Given the description of an element on the screen output the (x, y) to click on. 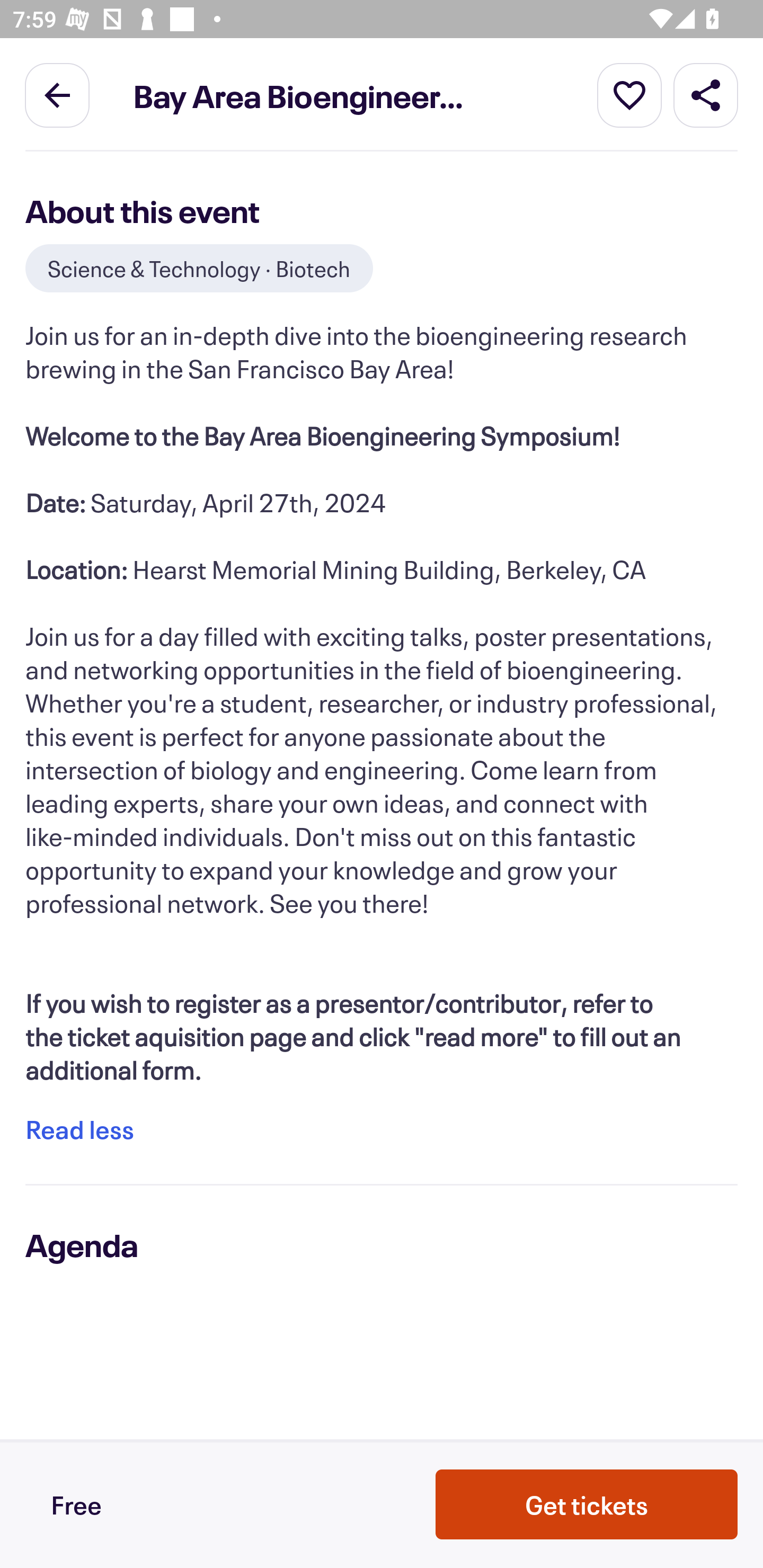
Back (57, 94)
More (629, 94)
Share (705, 94)
Read less (79, 1129)
Get tickets (586, 1504)
